Given the description of an element on the screen output the (x, y) to click on. 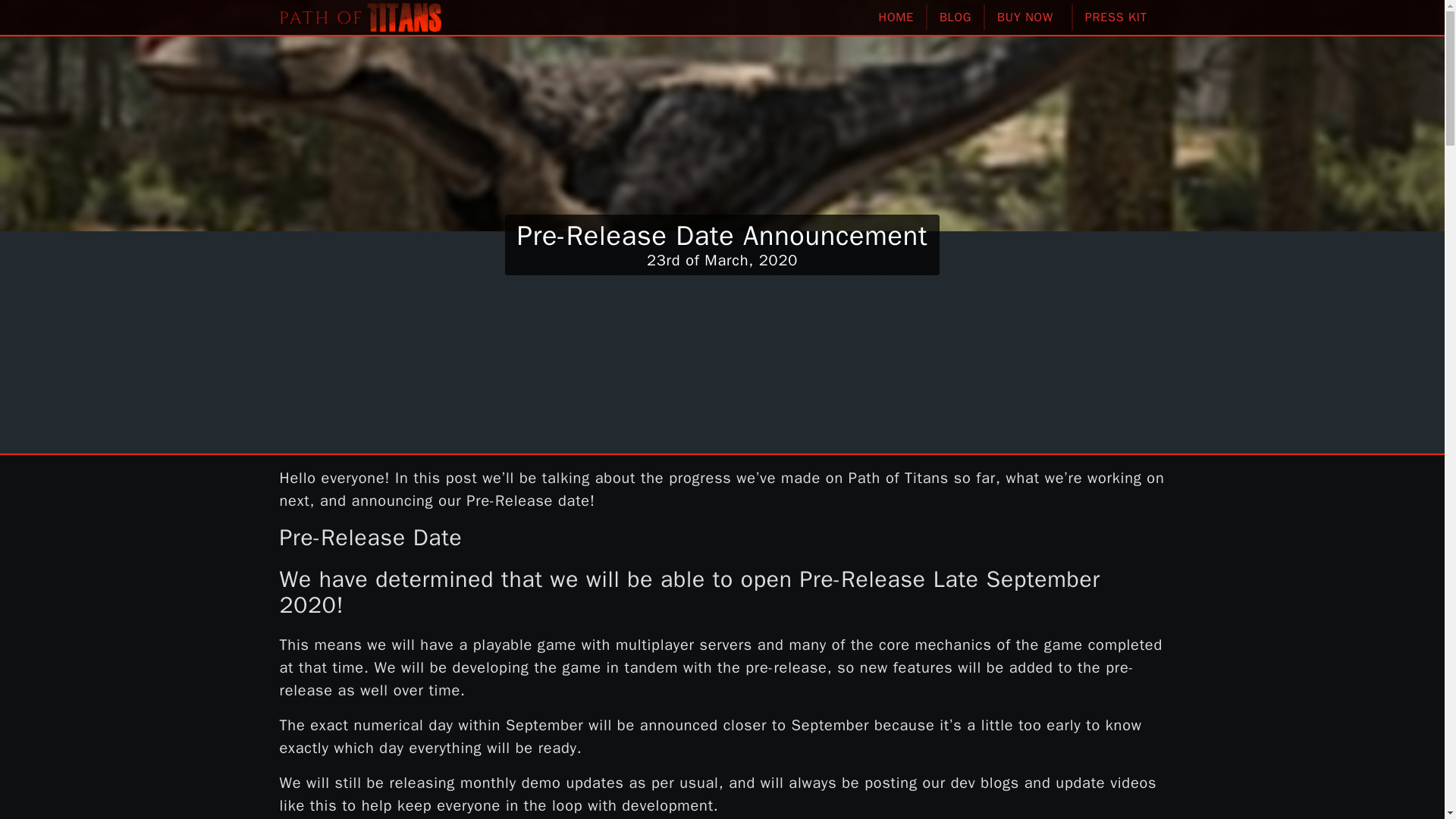
BUY NOW (1029, 17)
PRESS KIT (1119, 17)
HOME (896, 17)
BLOG (956, 17)
